Given the description of an element on the screen output the (x, y) to click on. 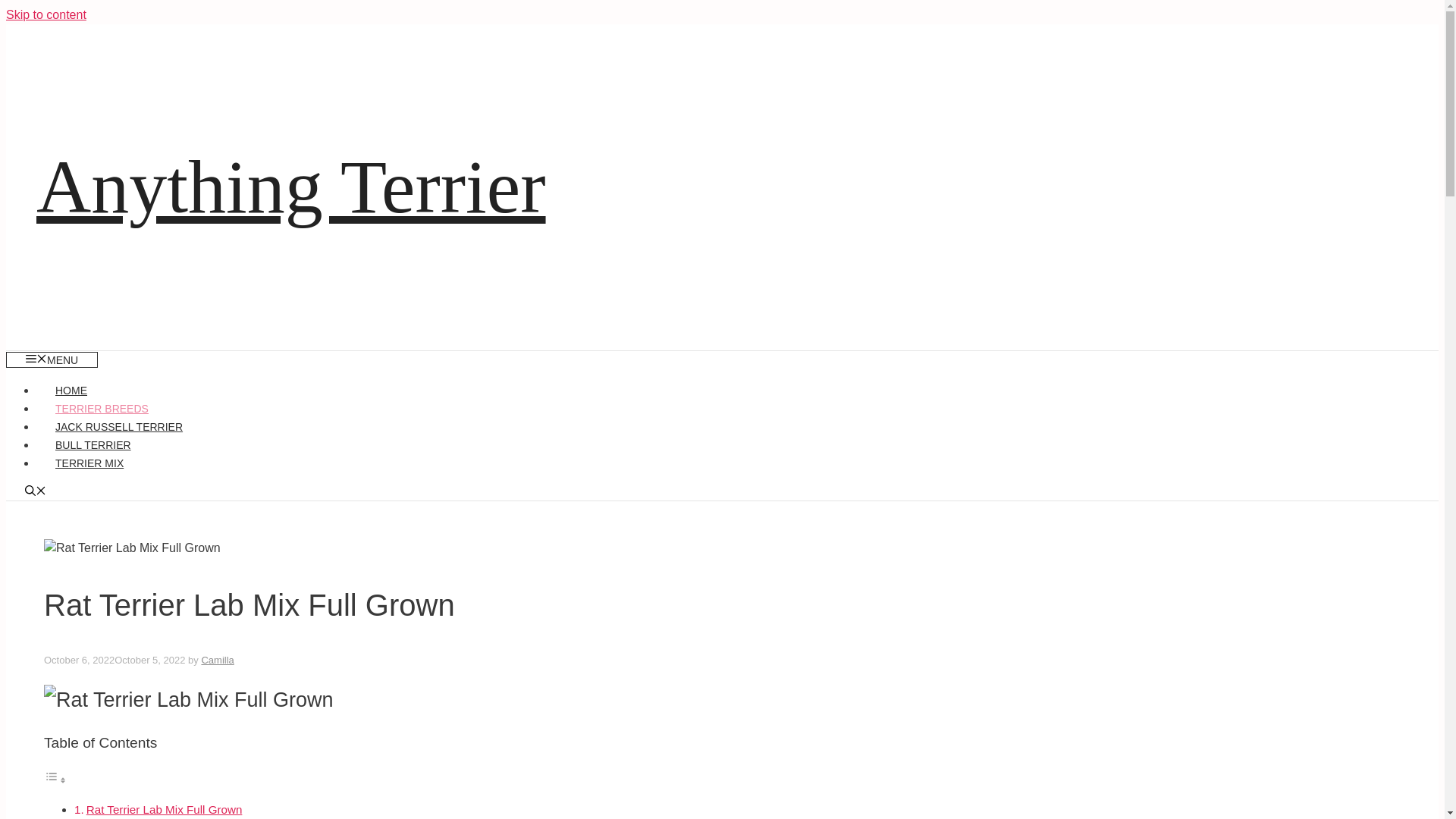
TERRIER MIX (89, 463)
View all posts by Camilla (216, 659)
Rat Terrier Lab Mix Full Grown (164, 809)
BULL TERRIER (92, 444)
JACK RUSSELL TERRIER (119, 426)
Skip to content (45, 14)
Rat Terrier Lab Mix Full Grown (164, 809)
HOME (71, 390)
Skip to content (45, 14)
MENU (51, 359)
Anything Terrier (291, 186)
TERRIER BREEDS (101, 408)
Camilla (216, 659)
